Given the description of an element on the screen output the (x, y) to click on. 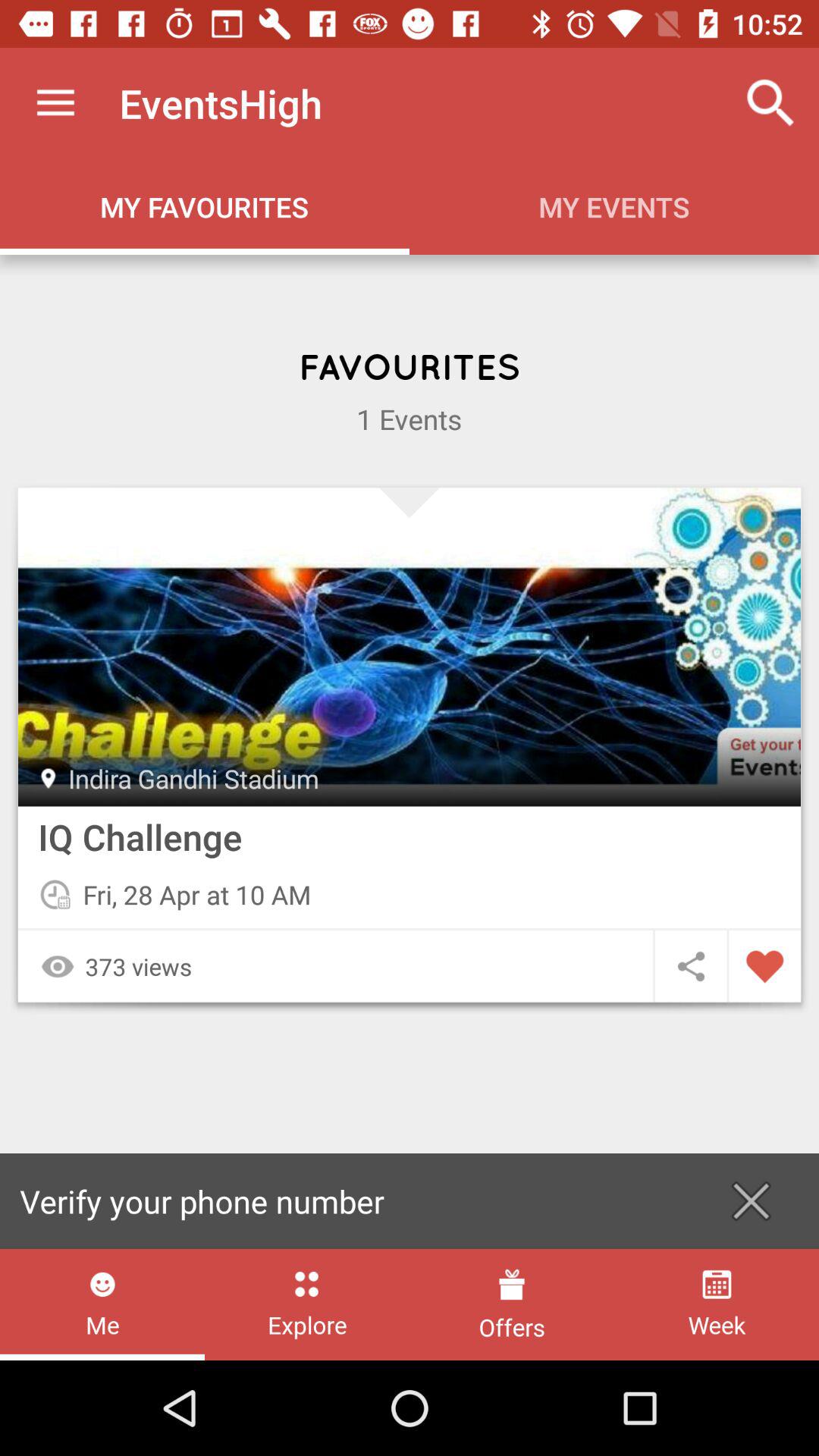
press the icon to the right of the explore icon (511, 1304)
